Given the description of an element on the screen output the (x, y) to click on. 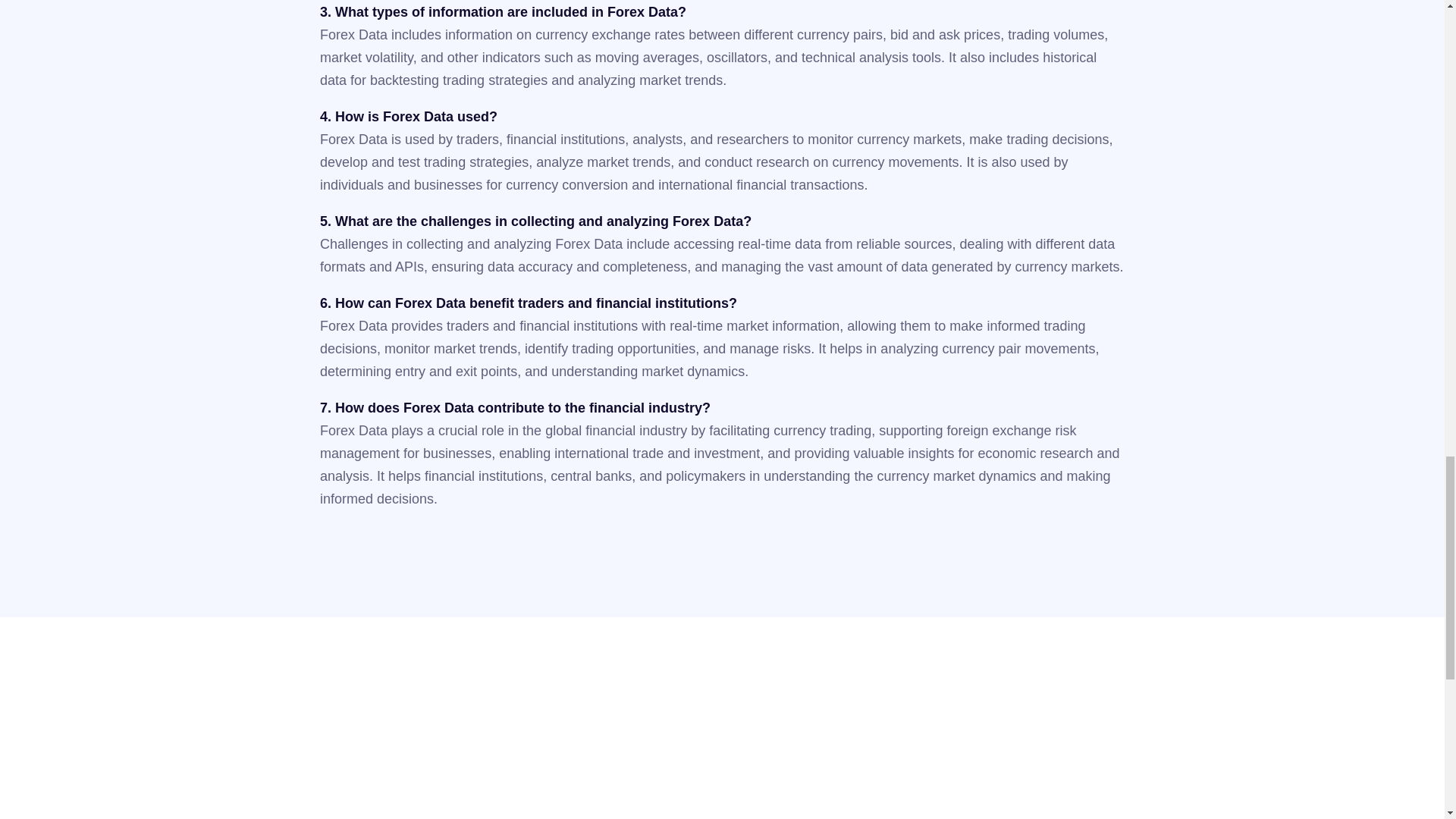
Subscribe (1110, 803)
